Given the description of an element on the screen output the (x, y) to click on. 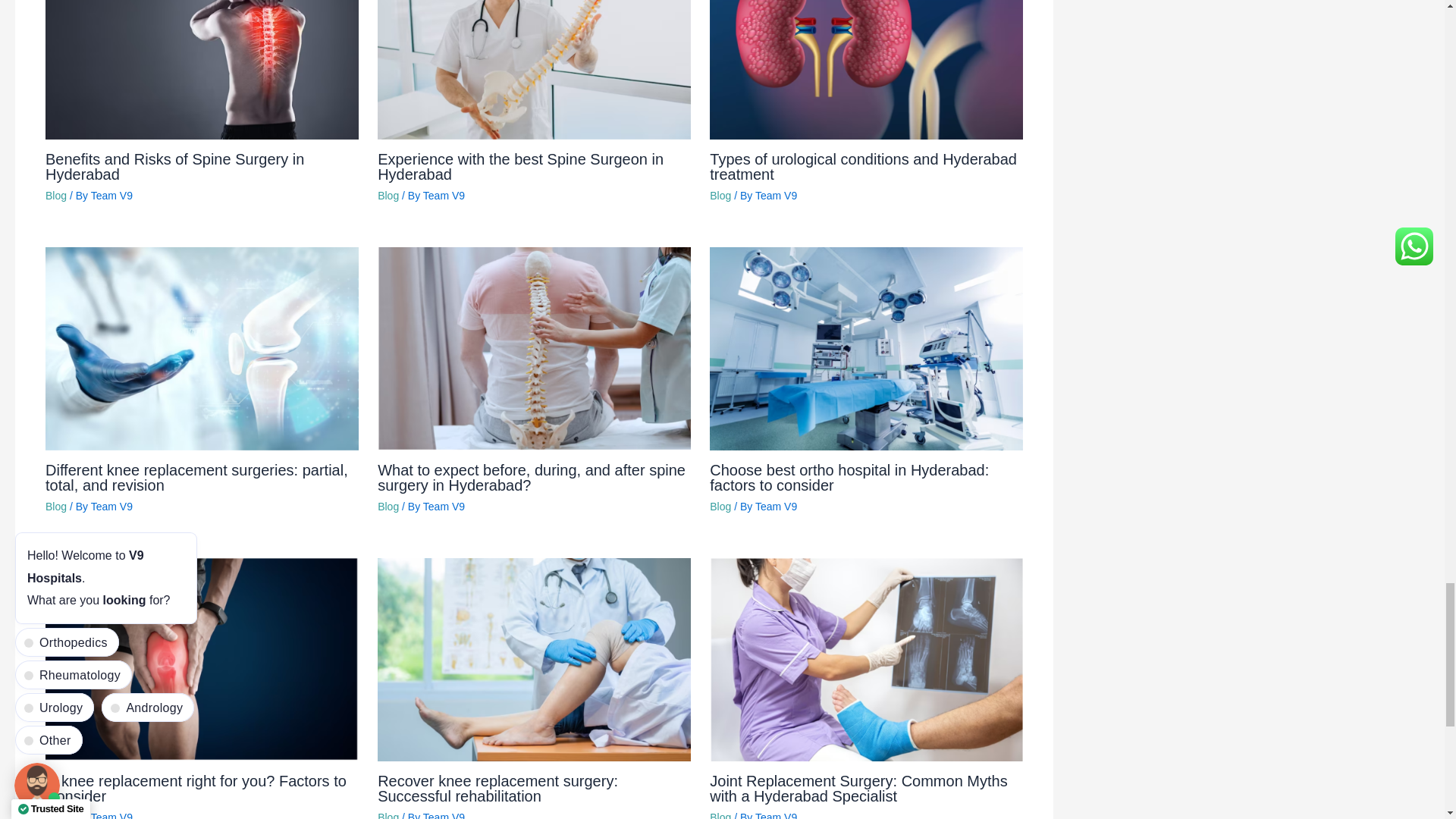
View all posts by Team V9 (111, 815)
View all posts by Team V9 (443, 506)
View all posts by Team V9 (775, 506)
View all posts by Team V9 (443, 815)
View all posts by Team V9 (111, 195)
View all posts by Team V9 (111, 506)
View all posts by Team V9 (775, 195)
View all posts by Team V9 (443, 195)
